Given the description of an element on the screen output the (x, y) to click on. 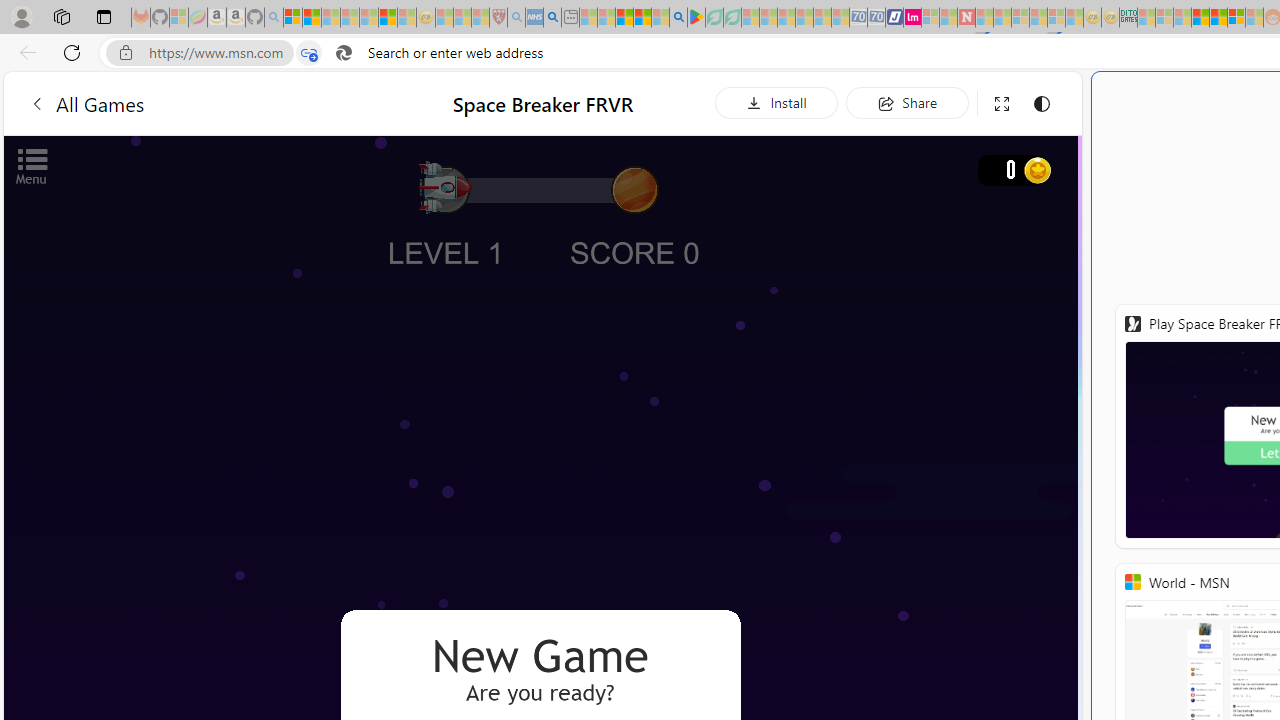
Install (775, 102)
Expert Portfolios (1200, 17)
